Given the description of an element on the screen output the (x, y) to click on. 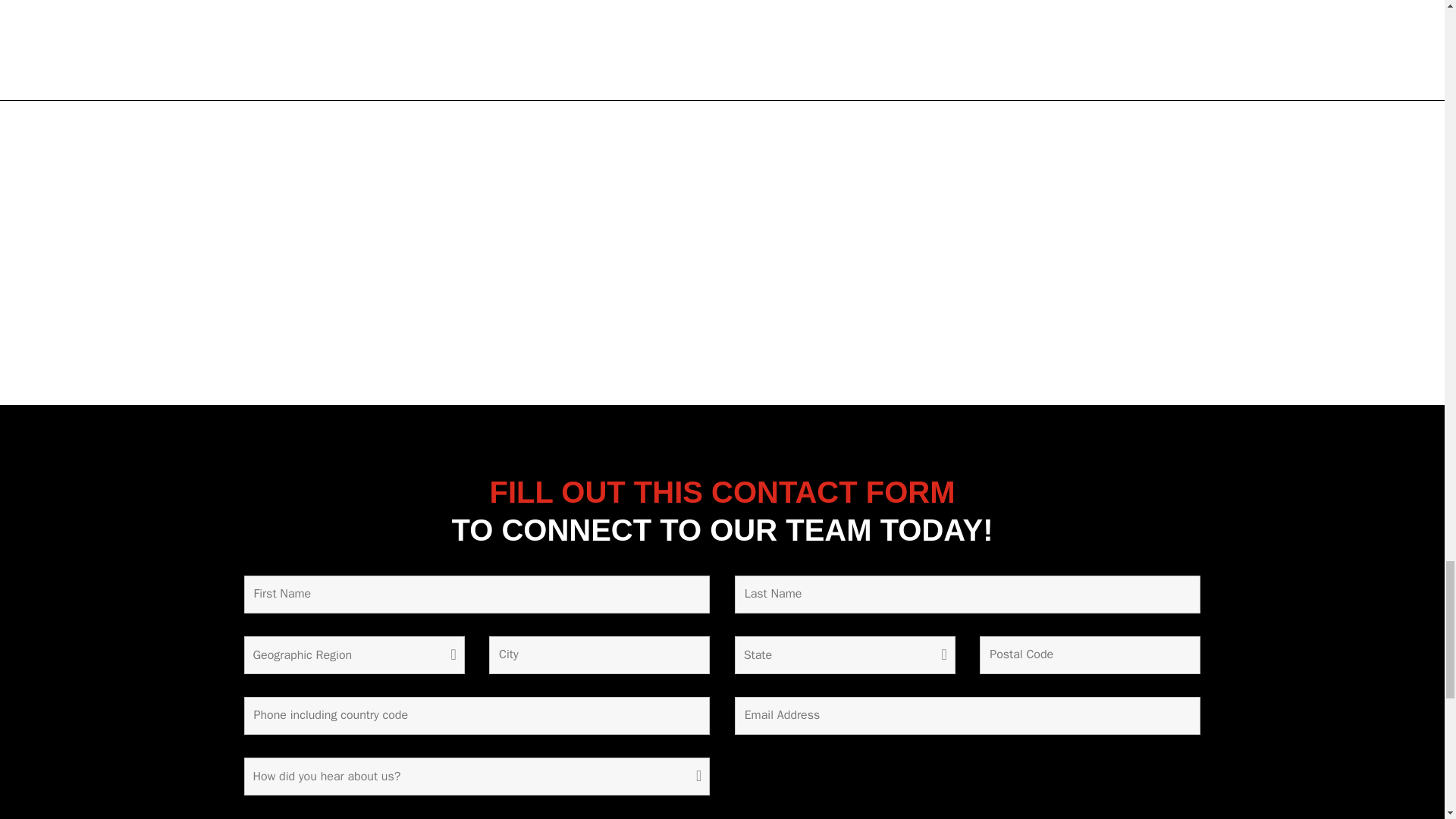
YouTube video (1055, 251)
YouTube video (388, 251)
YouTube video (721, 251)
